Given the description of an element on the screen output the (x, y) to click on. 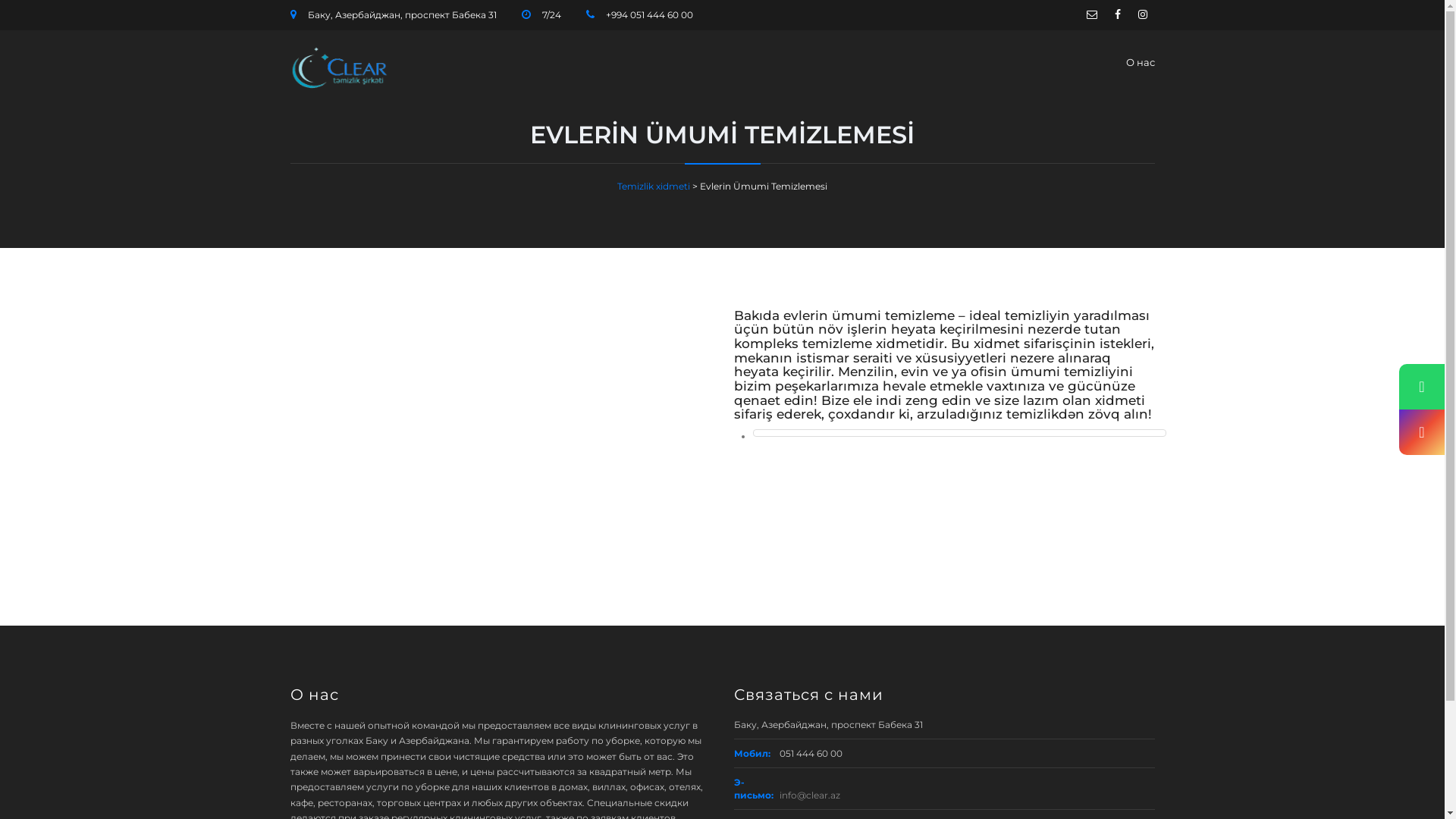
info@clear.az Element type: text (809, 794)
Temizlik xidmeti Element type: text (653, 185)
